Given the description of an element on the screen output the (x, y) to click on. 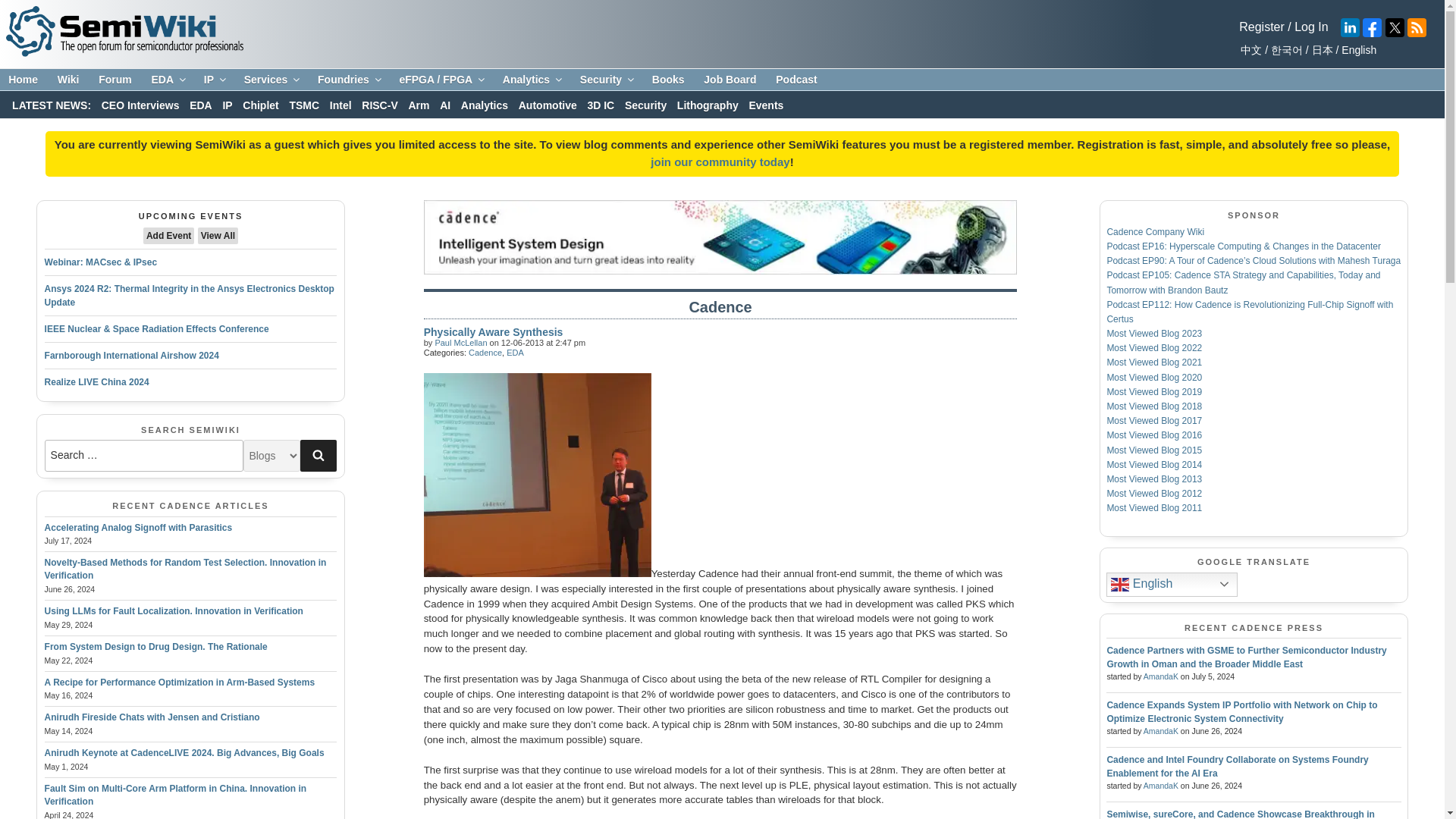
Log In (1310, 26)
Korean (1284, 50)
EDA (167, 79)
IP (213, 79)
Home (23, 79)
Japanese (1319, 50)
Login (719, 161)
Register (1261, 26)
Forum (114, 79)
Wiki (68, 79)
Login (1310, 26)
English (1356, 50)
Login (1261, 26)
